Given the description of an element on the screen output the (x, y) to click on. 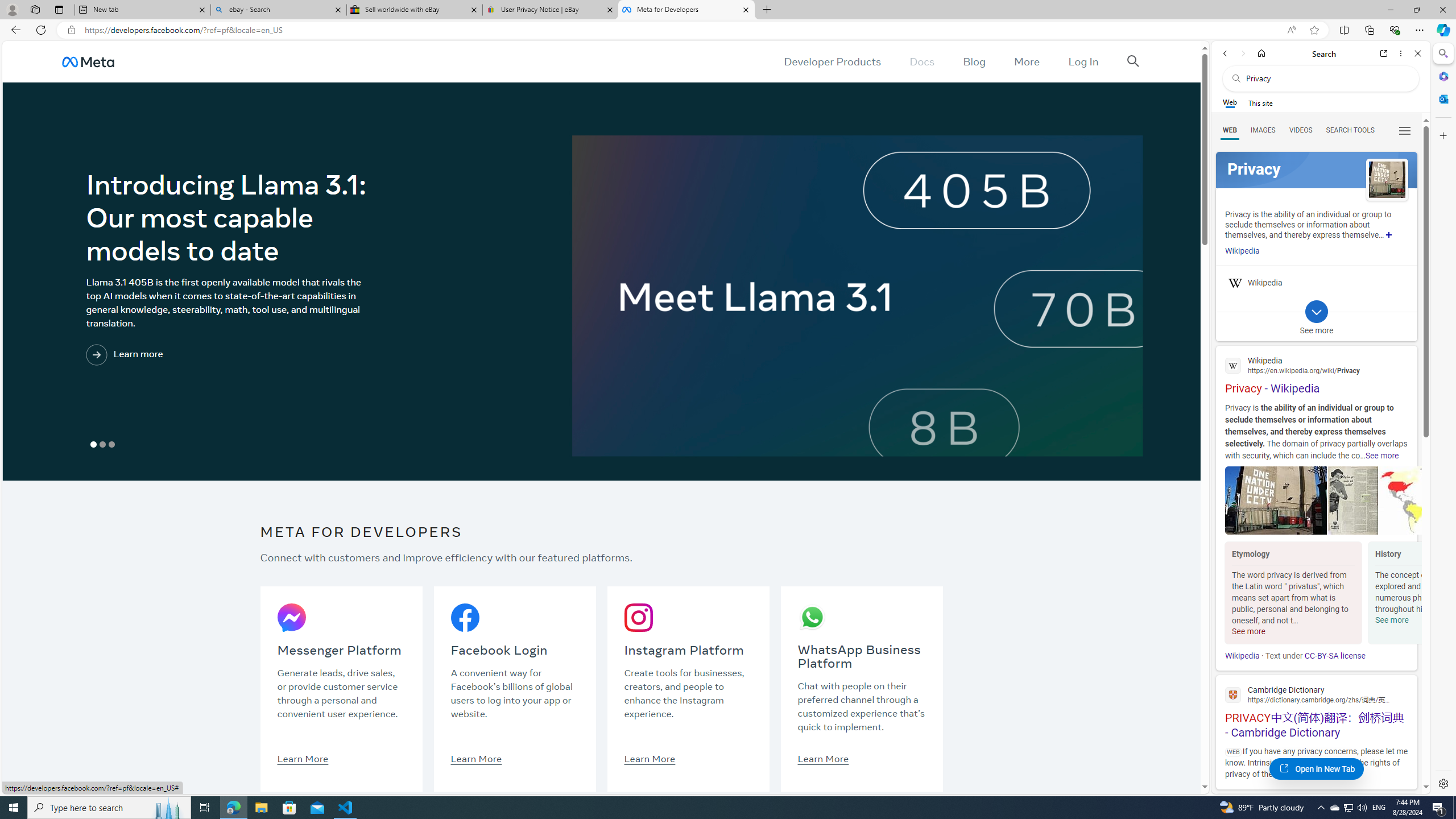
AutomationID: u_0_25_3H (88, 61)
Blog (974, 61)
Click to scroll right (1407, 594)
Preferences (1403, 129)
WEB   (1230, 130)
CC-BY-SA license (1334, 655)
